Given the description of an element on the screen output the (x, y) to click on. 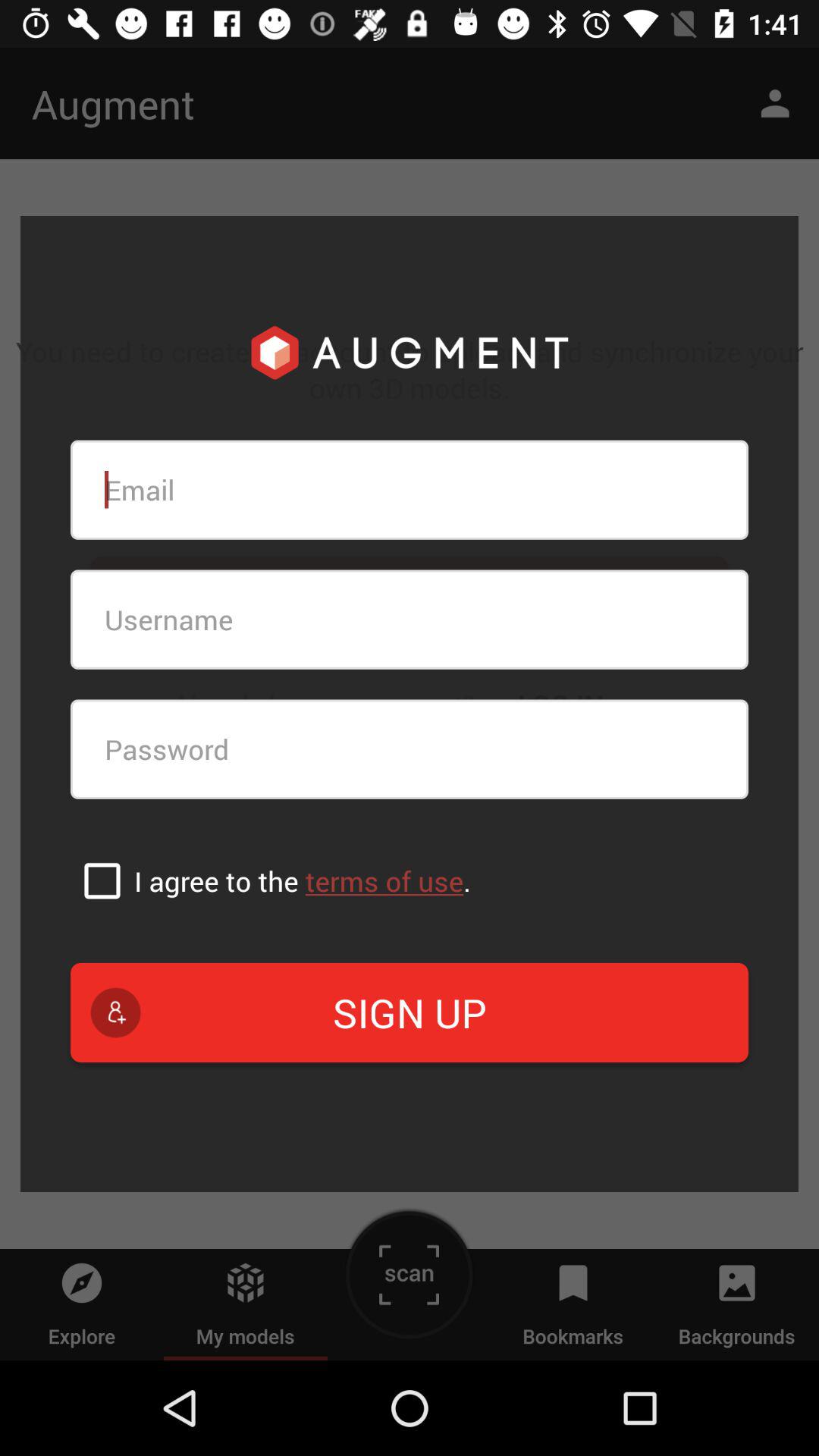
open text box (409, 489)
